Given the description of an element on the screen output the (x, y) to click on. 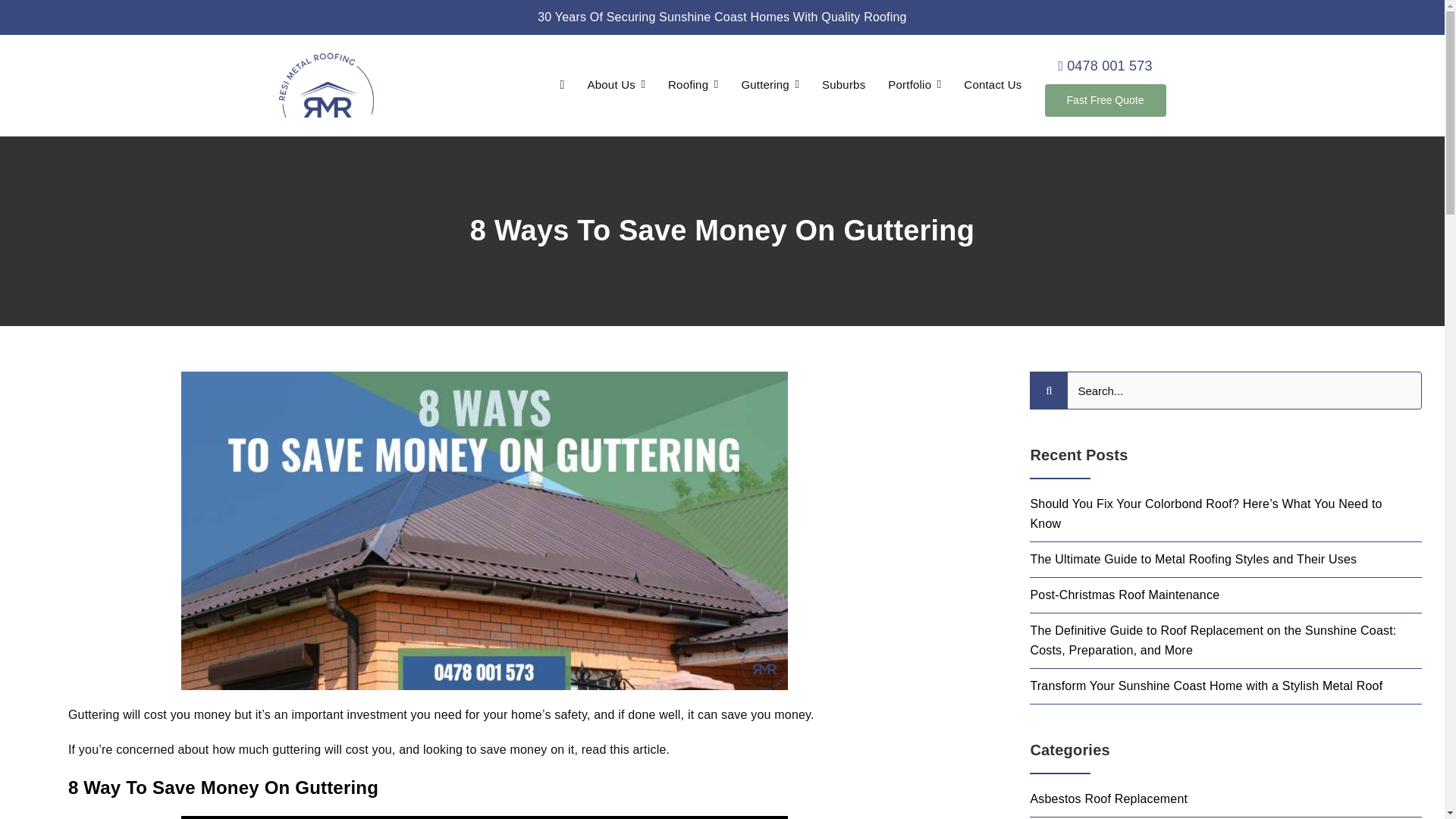
Guttering (770, 85)
Portfolio (914, 85)
Contact Us (992, 85)
Fast Free Quote (1105, 100)
0478 001 573 (1105, 65)
About Us (617, 85)
Suburbs (843, 85)
8 Ways To Save Money On Guttering 1 (326, 85)
Roofing (692, 85)
